Given the description of an element on the screen output the (x, y) to click on. 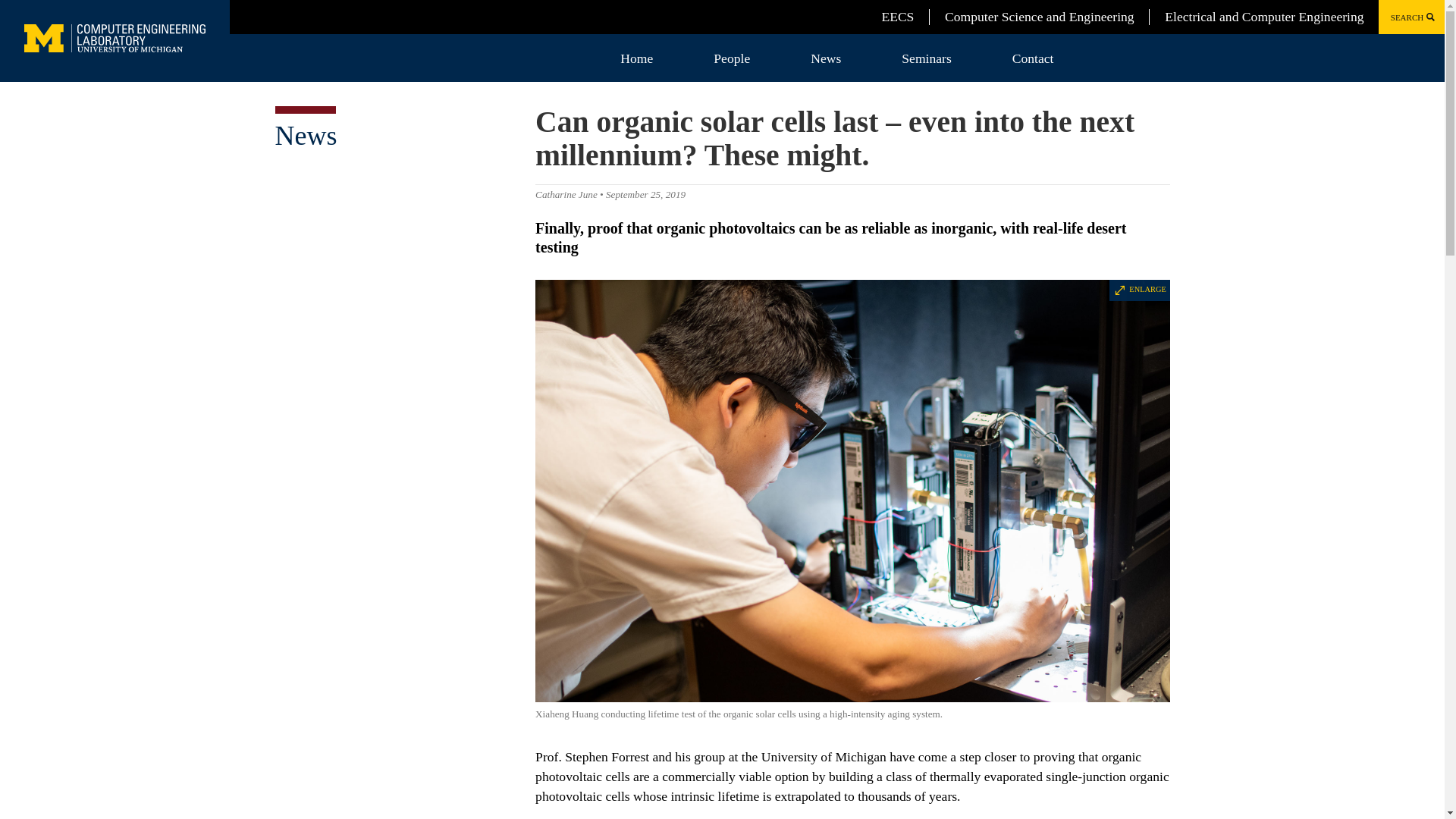
News (825, 57)
Home (636, 57)
EECS (897, 16)
Contact (1032, 57)
News (305, 135)
Seminars (925, 57)
Electrical and Computer Engineering (1263, 16)
People (731, 57)
Computer Science and Engineering (1039, 16)
